Given the description of an element on the screen output the (x, y) to click on. 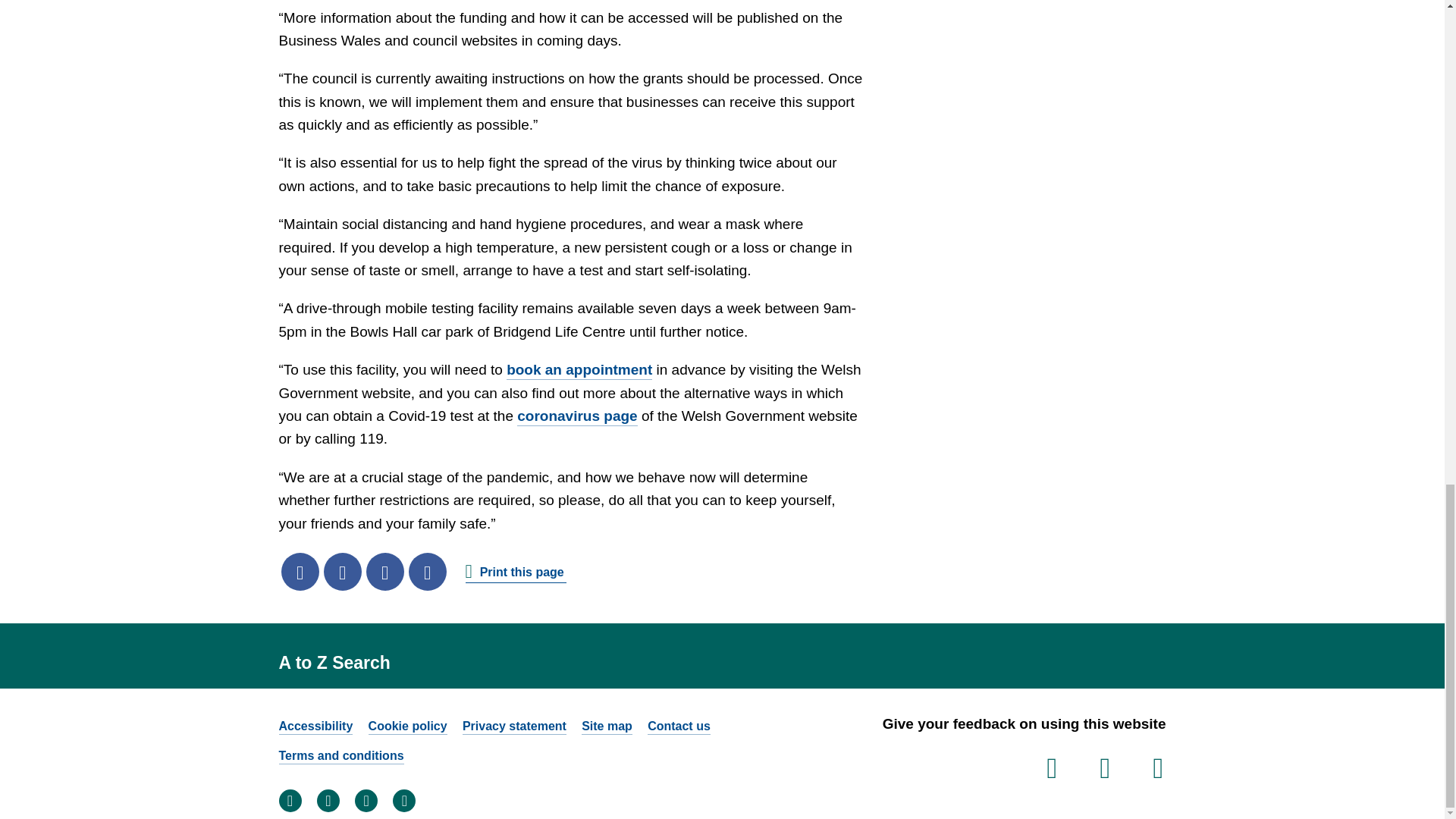
Share on  Pinterest (426, 571)
book an appointment (579, 370)
Share on LinkedIn (384, 571)
Share on  Twitter (342, 571)
Instagram (366, 800)
Share on  LinkedIn (384, 571)
coronavirus page of the Welsh Government website (576, 416)
Print this page (515, 570)
Facebook (290, 800)
Print this page (515, 570)
Share on Twitter (342, 571)
Share on Pinterest (426, 571)
